Given the description of an element on the screen output the (x, y) to click on. 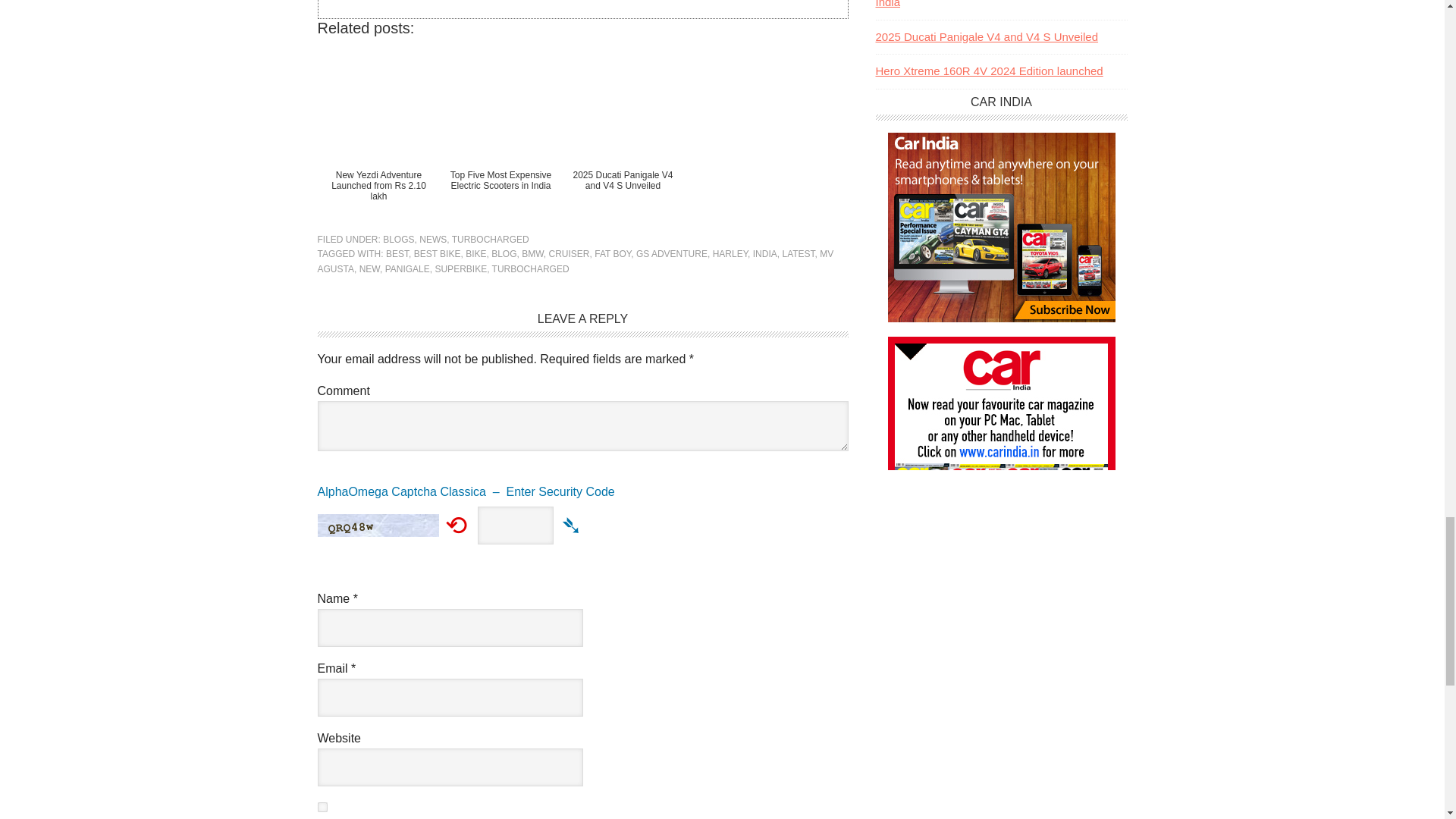
TURBOCHARGED (490, 239)
BIKE (475, 253)
yes (321, 807)
CRUISER (568, 253)
FAT BOY (612, 253)
BLOGS (397, 239)
BEST (397, 253)
 Reload AlphaOmega Captcha  (456, 523)
 Checkout the AlphaOmega Captcha Plugin at WordPress.org  (582, 496)
BEST BIKE (437, 253)
BLOG (504, 253)
NEWS (432, 239)
BMW (532, 253)
